Given the description of an element on the screen output the (x, y) to click on. 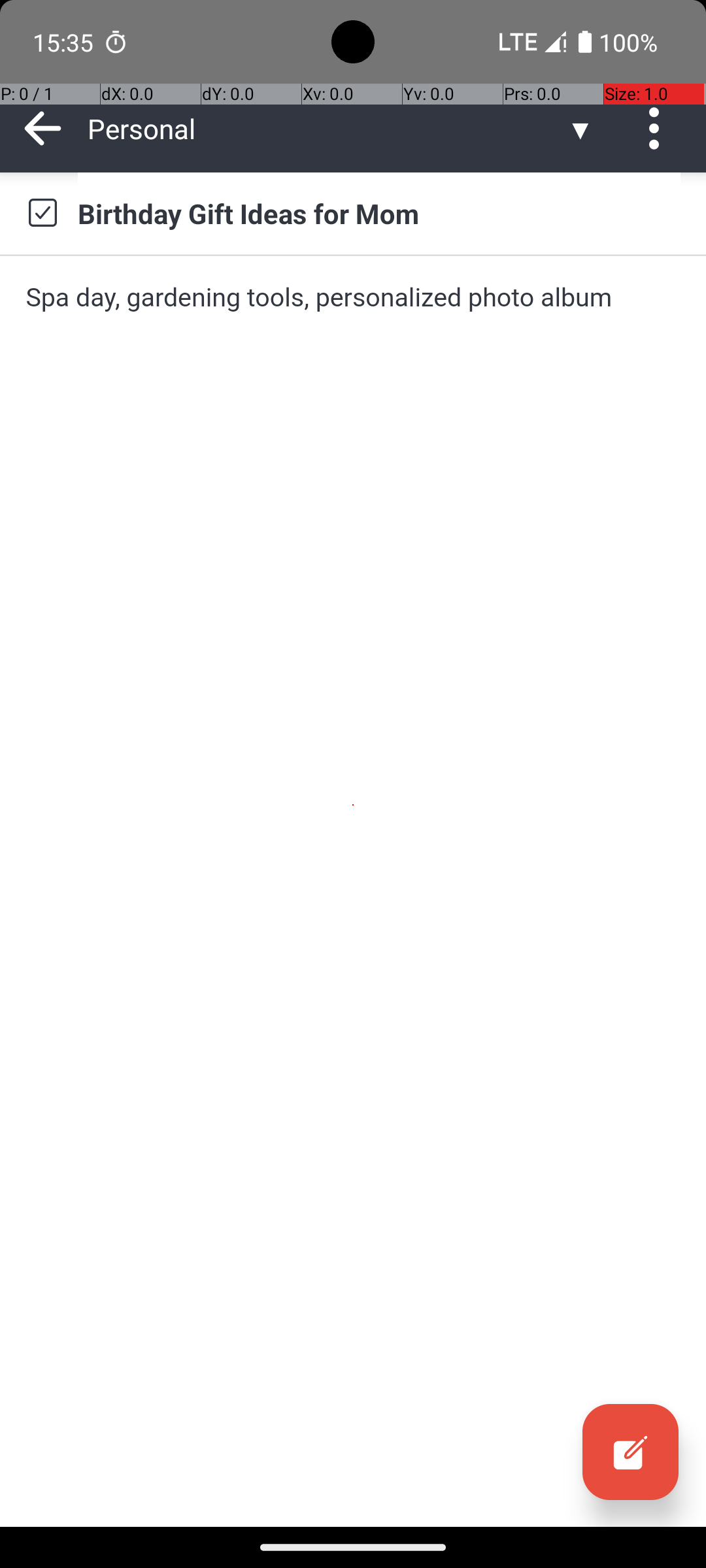
Birthday Gift Ideas for Mom Element type: android.widget.EditText (378, 213)
Spa day, gardening tools, personalized photo album Element type: android.widget.TextView (352, 296)
